Given the description of an element on the screen output the (x, y) to click on. 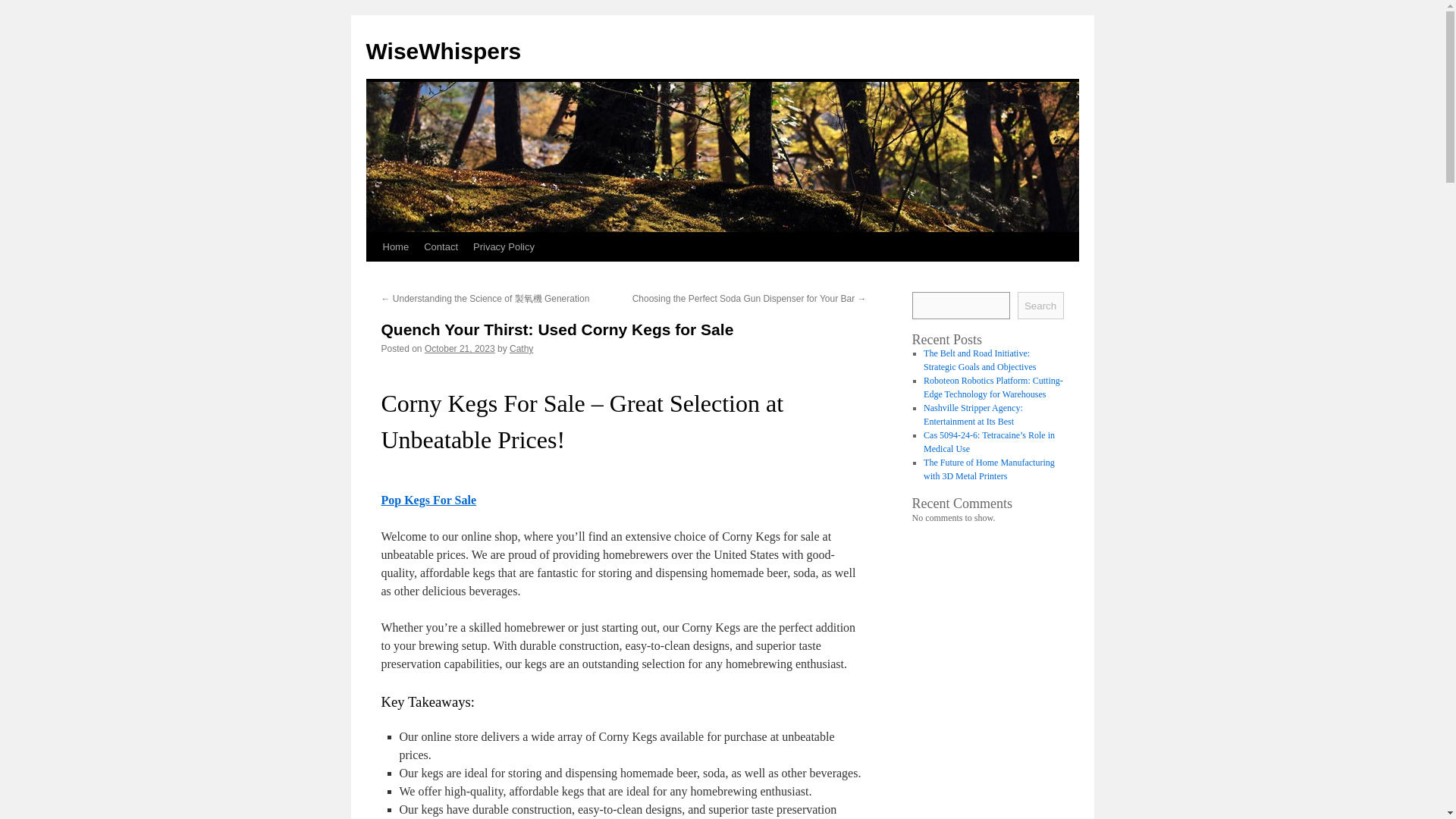
The Future of Home Manufacturing with 3D Metal Printers (988, 469)
Search (1040, 305)
12:19 pm (460, 348)
WiseWhispers (443, 50)
Privacy Policy (503, 246)
Cathy (520, 348)
The Belt and Road Initiative: Strategic Goals and Objectives (979, 360)
Contact (440, 246)
View all posts by Cathy (520, 348)
Nashville Stripper Agency: Entertainment at Its Best (973, 414)
Pop Kegs For Sale (428, 499)
October 21, 2023 (460, 348)
Home (395, 246)
